Given the description of an element on the screen output the (x, y) to click on. 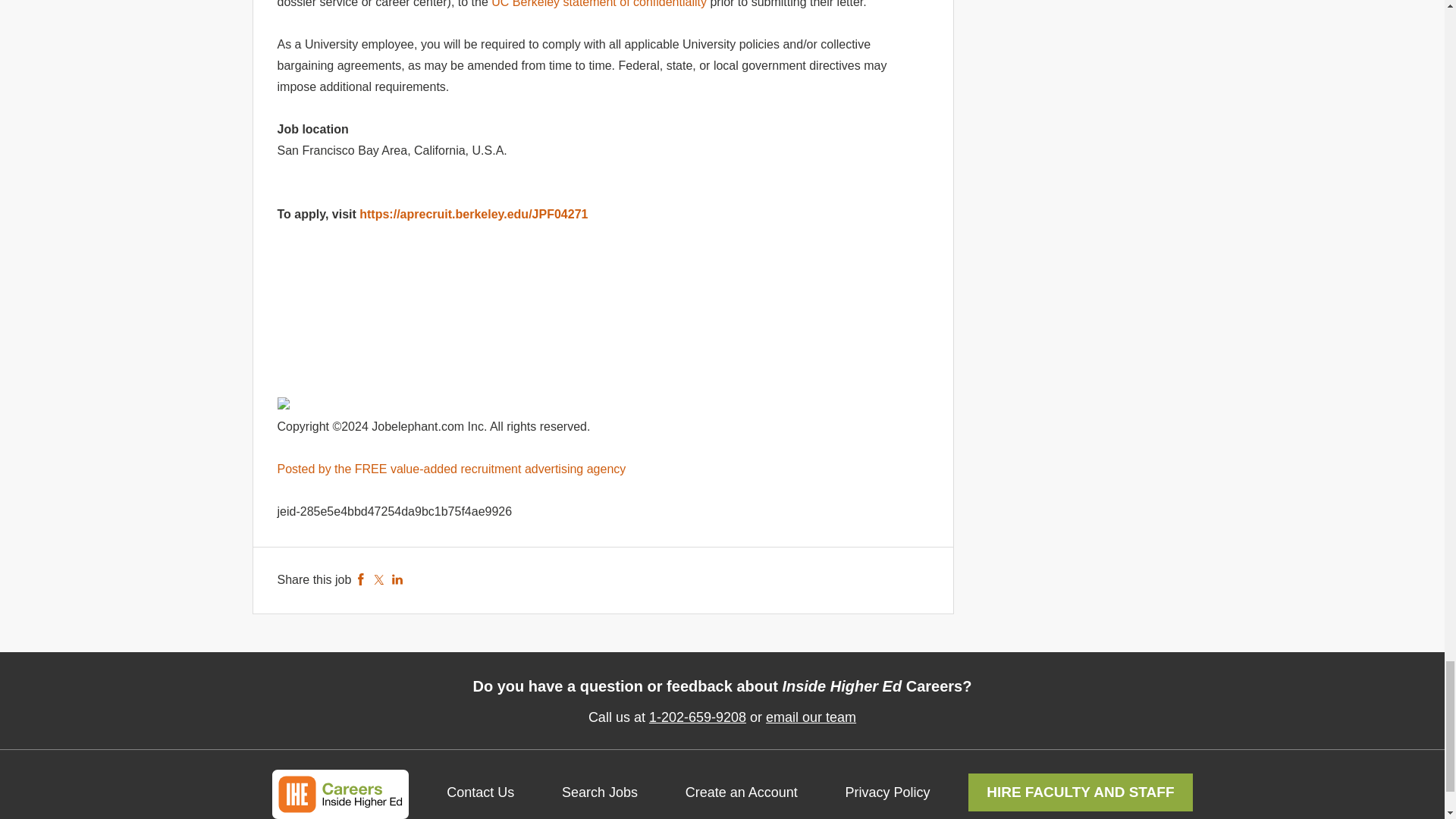
Twitter (378, 579)
LinkedIn (397, 579)
UC Berkeley statement of confidentiality (599, 4)
Facebook (360, 579)
Inside Higher Ed Careers (338, 794)
